Given the description of an element on the screen output the (x, y) to click on. 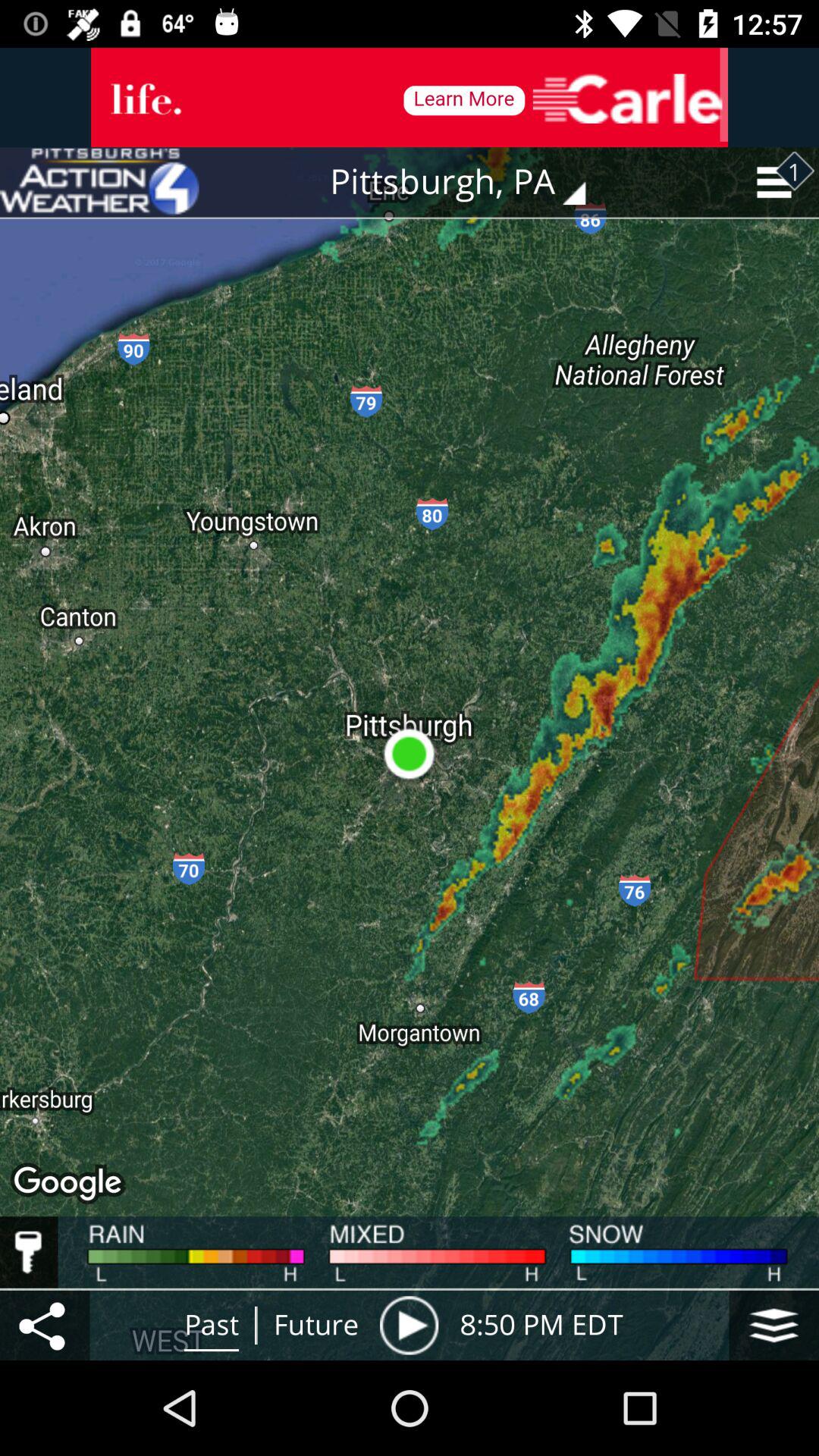
advertisement banner (409, 97)
